Given the description of an element on the screen output the (x, y) to click on. 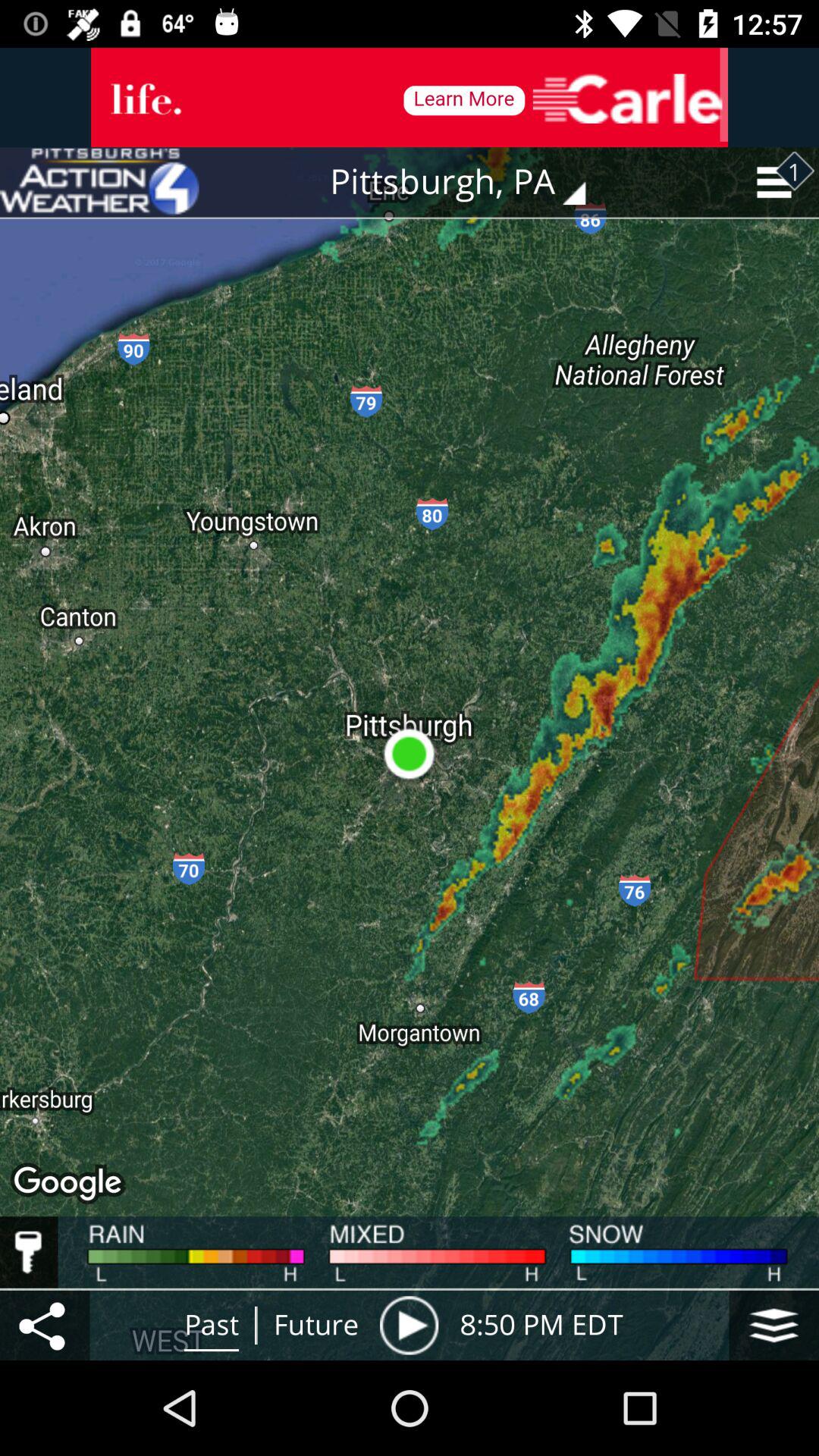
advertisement banner (409, 97)
